Given the description of an element on the screen output the (x, y) to click on. 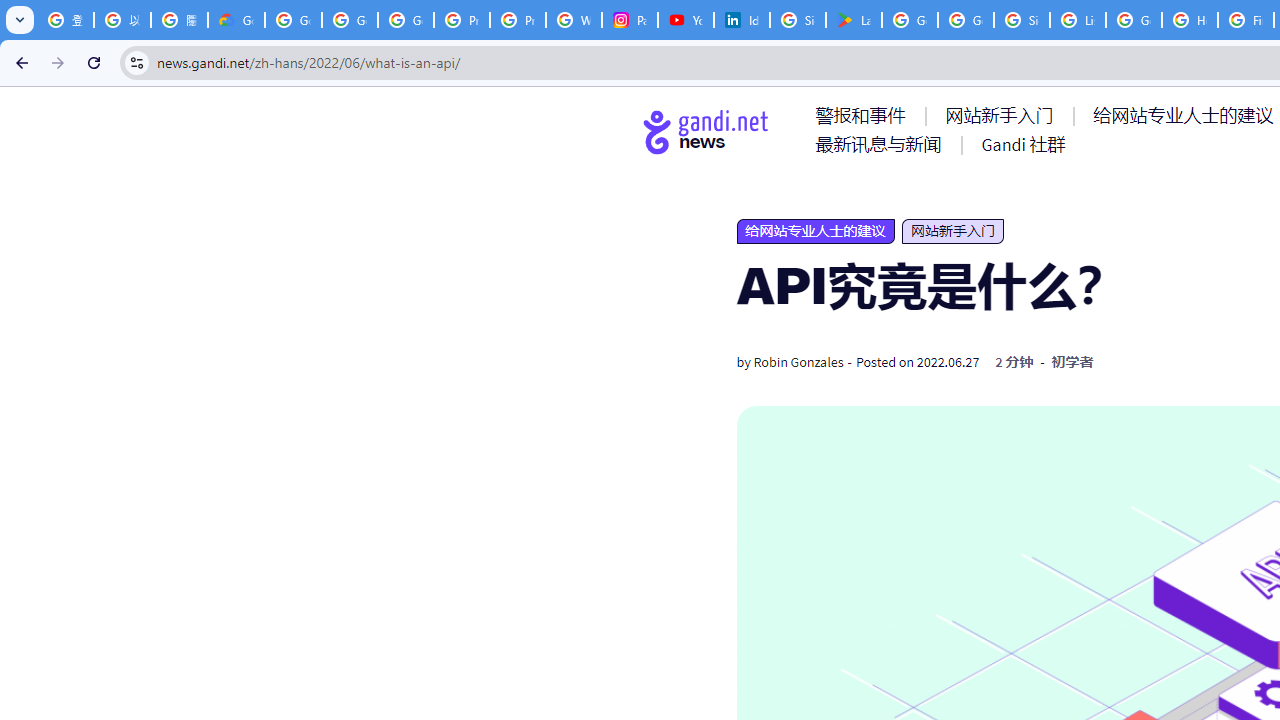
Go to home (706, 131)
AutomationID: menu-item-77767 (1022, 143)
AutomationID: menu-item-77766 (882, 143)
Sign in - Google Accounts (797, 20)
AutomationID: menu-item-77761 (863, 115)
